Given the description of an element on the screen output the (x, y) to click on. 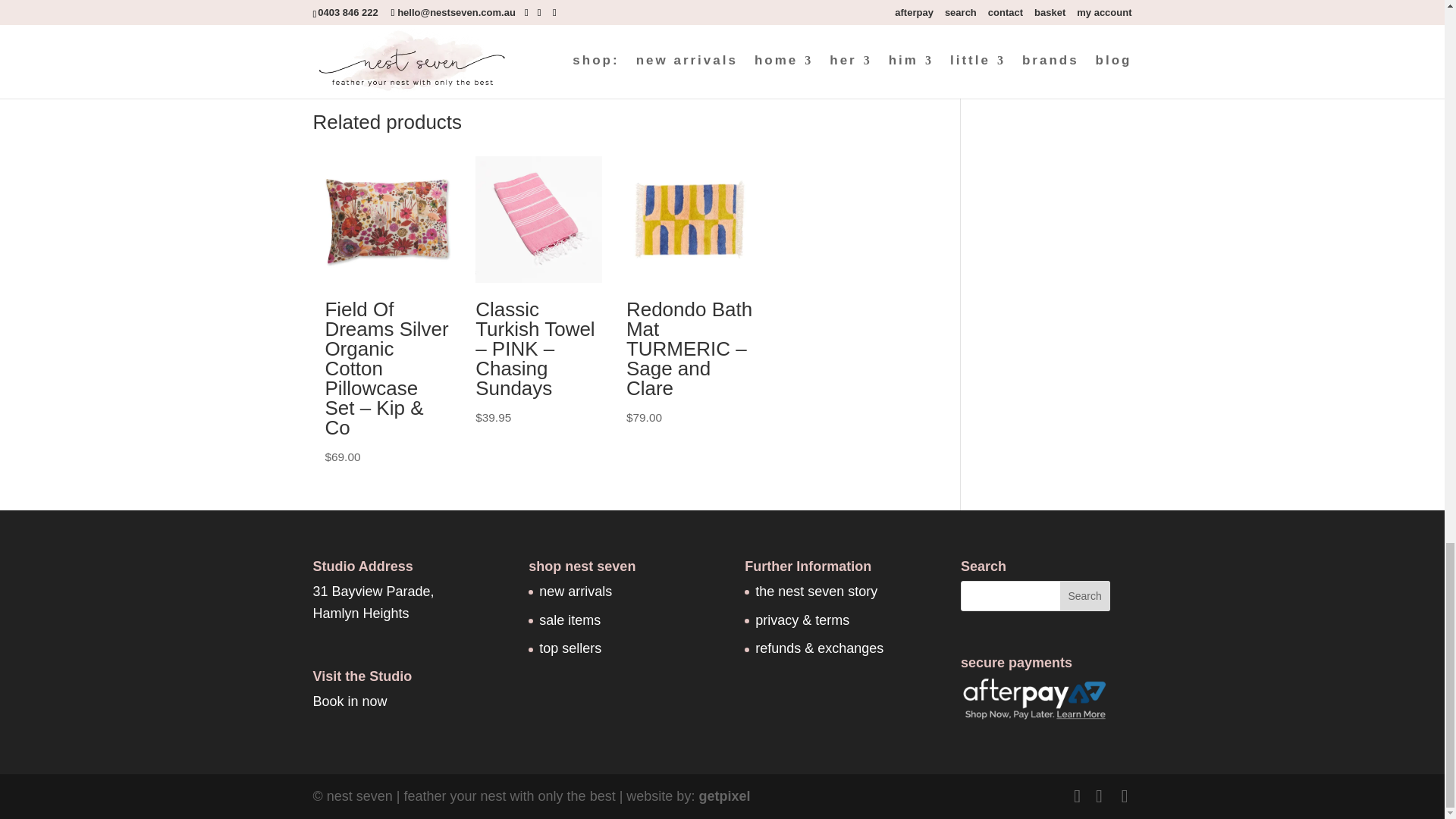
Search (1084, 595)
Website Design Ballarat (723, 795)
